Given the description of an element on the screen output the (x, y) to click on. 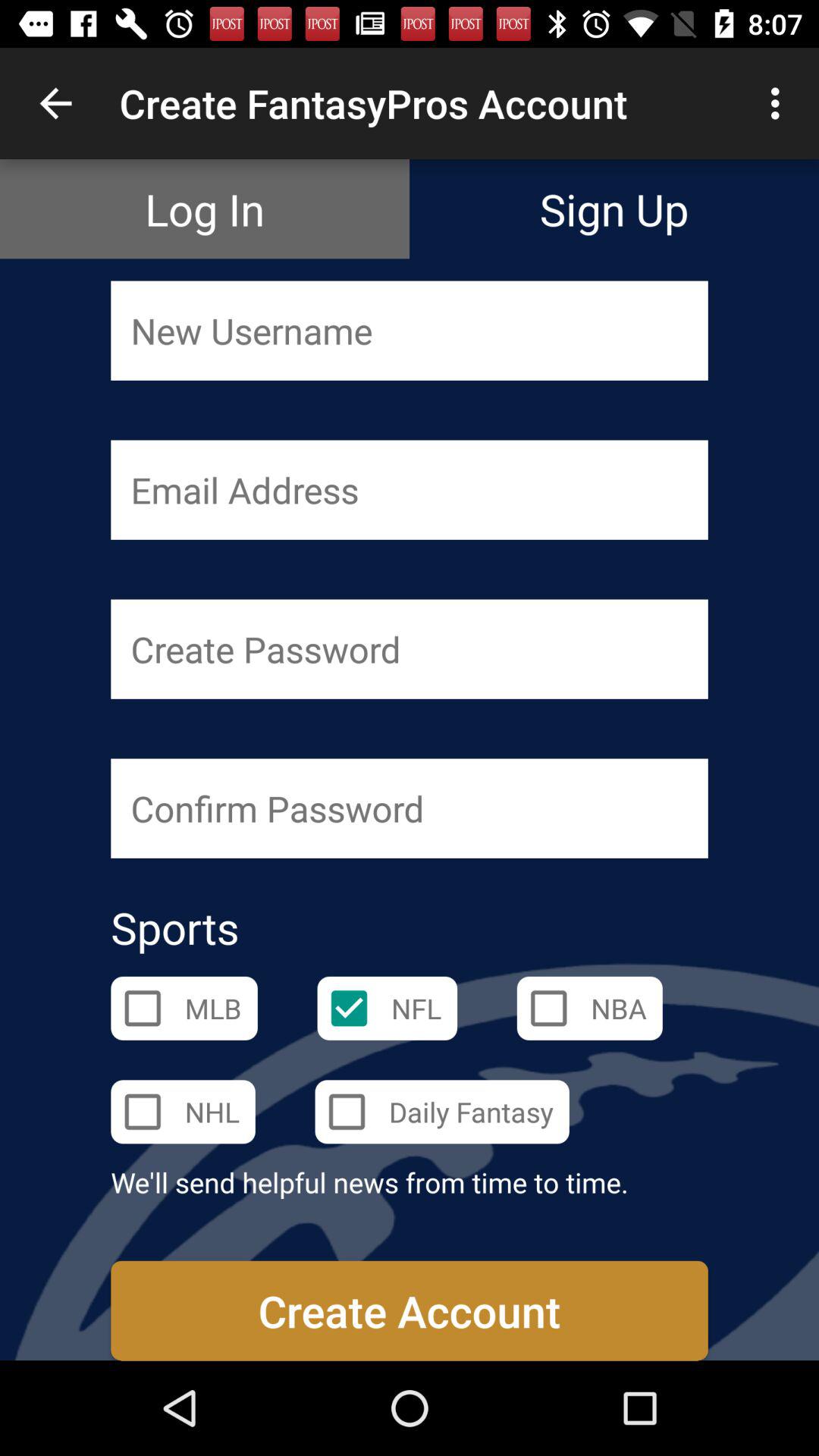
tap the icon to the left of create fantasypros account app (55, 103)
